Given the description of an element on the screen output the (x, y) to click on. 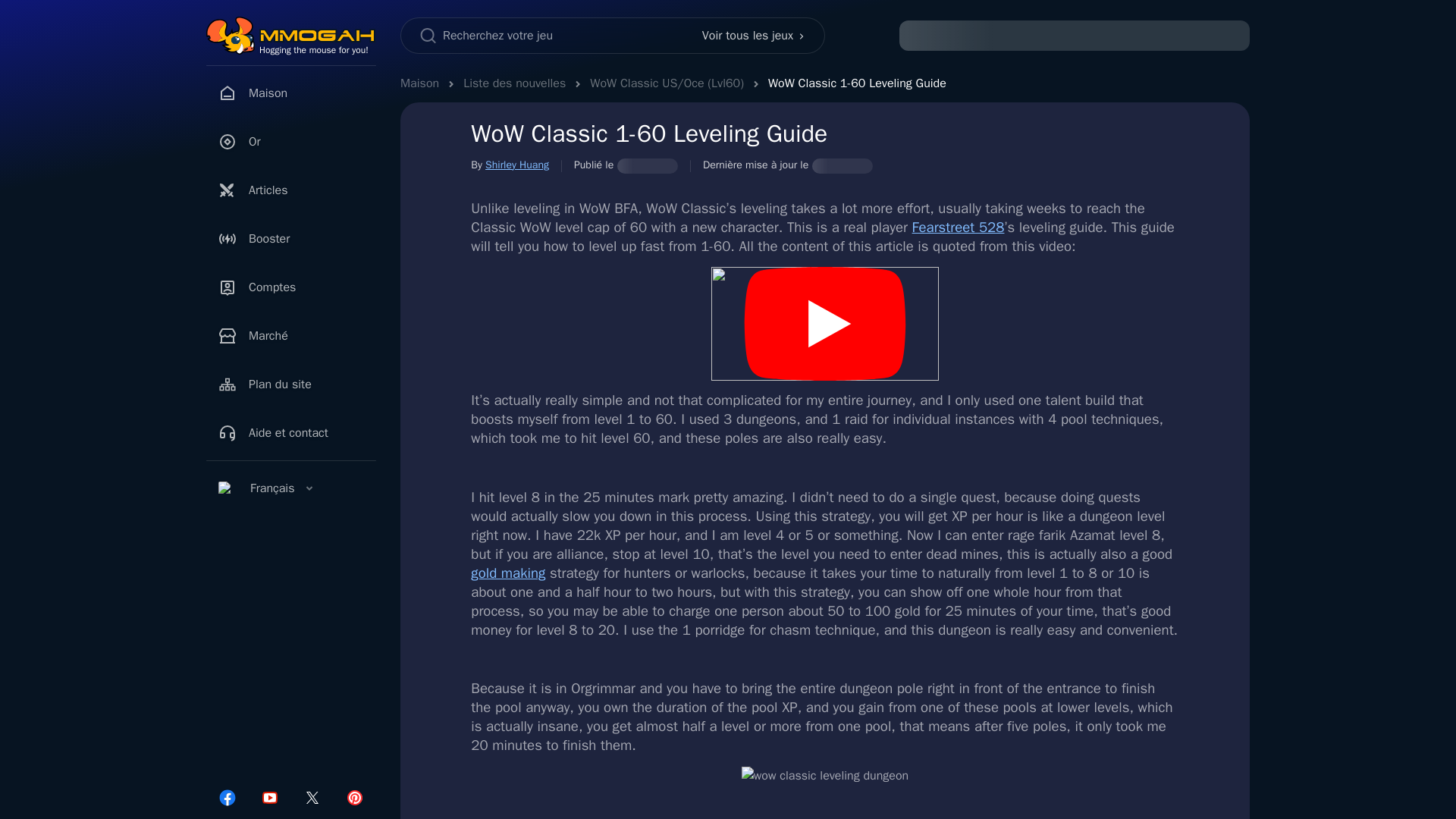
Voir tous les jeux (753, 35)
Shirley Huang (516, 164)
Articles (290, 190)
Maison (419, 83)
Booster (290, 238)
Maison (290, 92)
Or (290, 141)
Aide et contact (290, 432)
Liste des nouvelles (514, 83)
gold making (507, 573)
Pinterest (355, 797)
WoW Classic 1-60 Leveling Guide (857, 83)
Twitter (311, 797)
Game Video (825, 323)
Hogging the mouse for you! (313, 50)
